Given the description of an element on the screen output the (x, y) to click on. 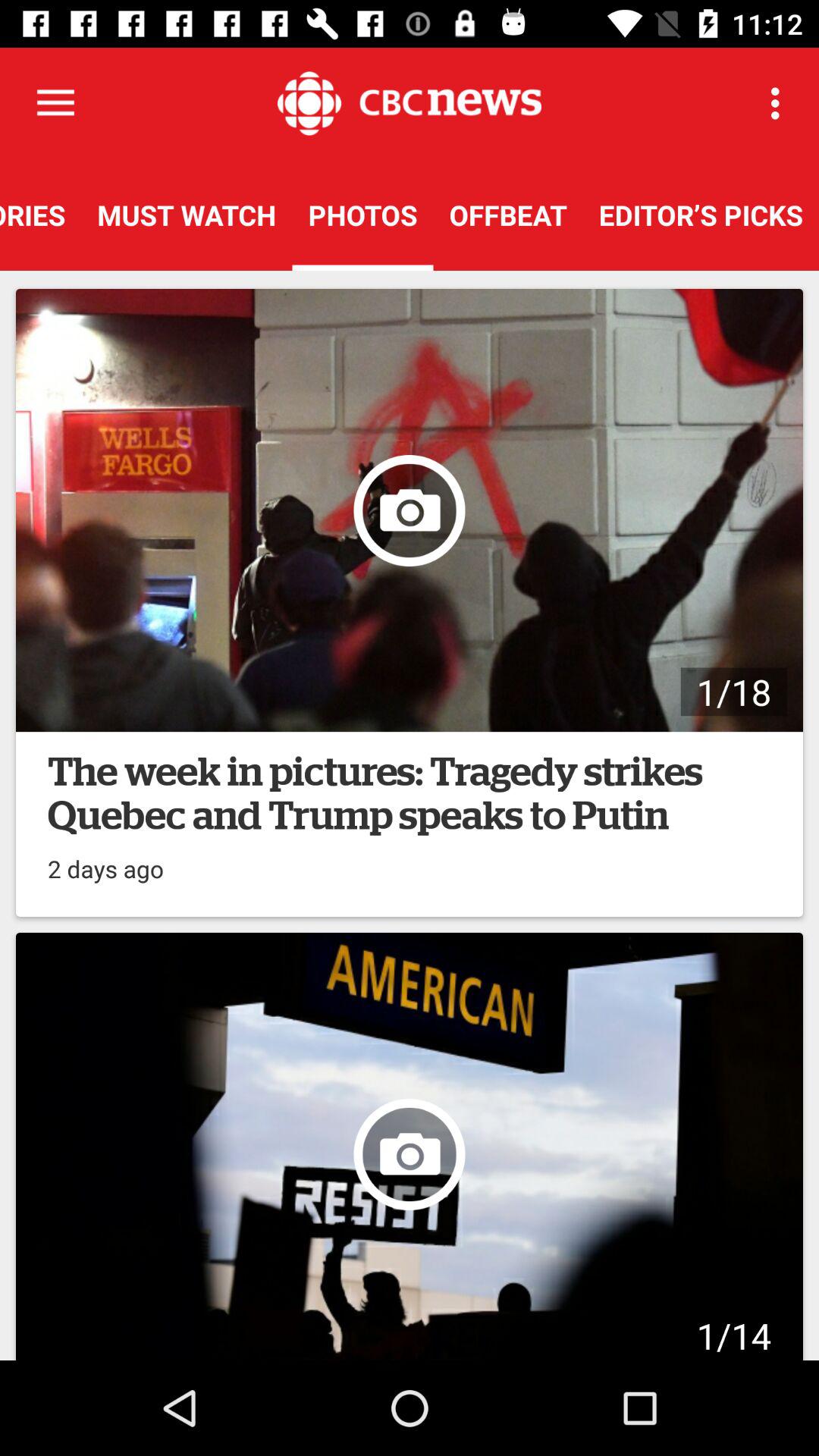
turn off the 2 days ago icon (105, 860)
